Given the description of an element on the screen output the (x, y) to click on. 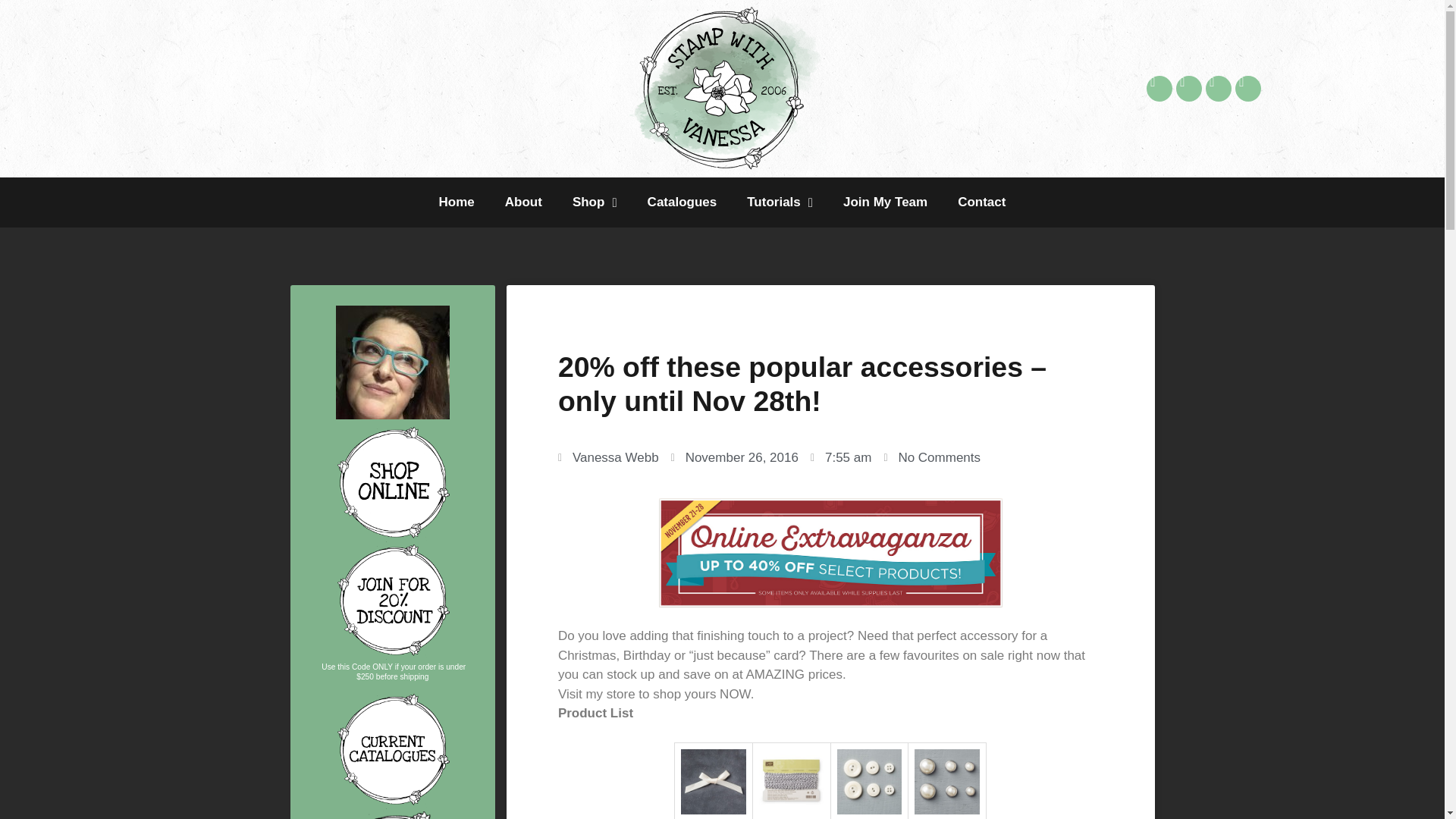
Contact (981, 202)
Classy Designer Buttons (869, 810)
Classy Designer Buttons (869, 781)
Basic Black Baker's Twine (791, 810)
Home (456, 202)
Basic Black Baker's Twine (791, 781)
Catalogues (681, 202)
Shop (594, 202)
About (523, 202)
meprofile.jpg (392, 362)
Tutorials (780, 202)
Join My Team (885, 202)
